Given the description of an element on the screen output the (x, y) to click on. 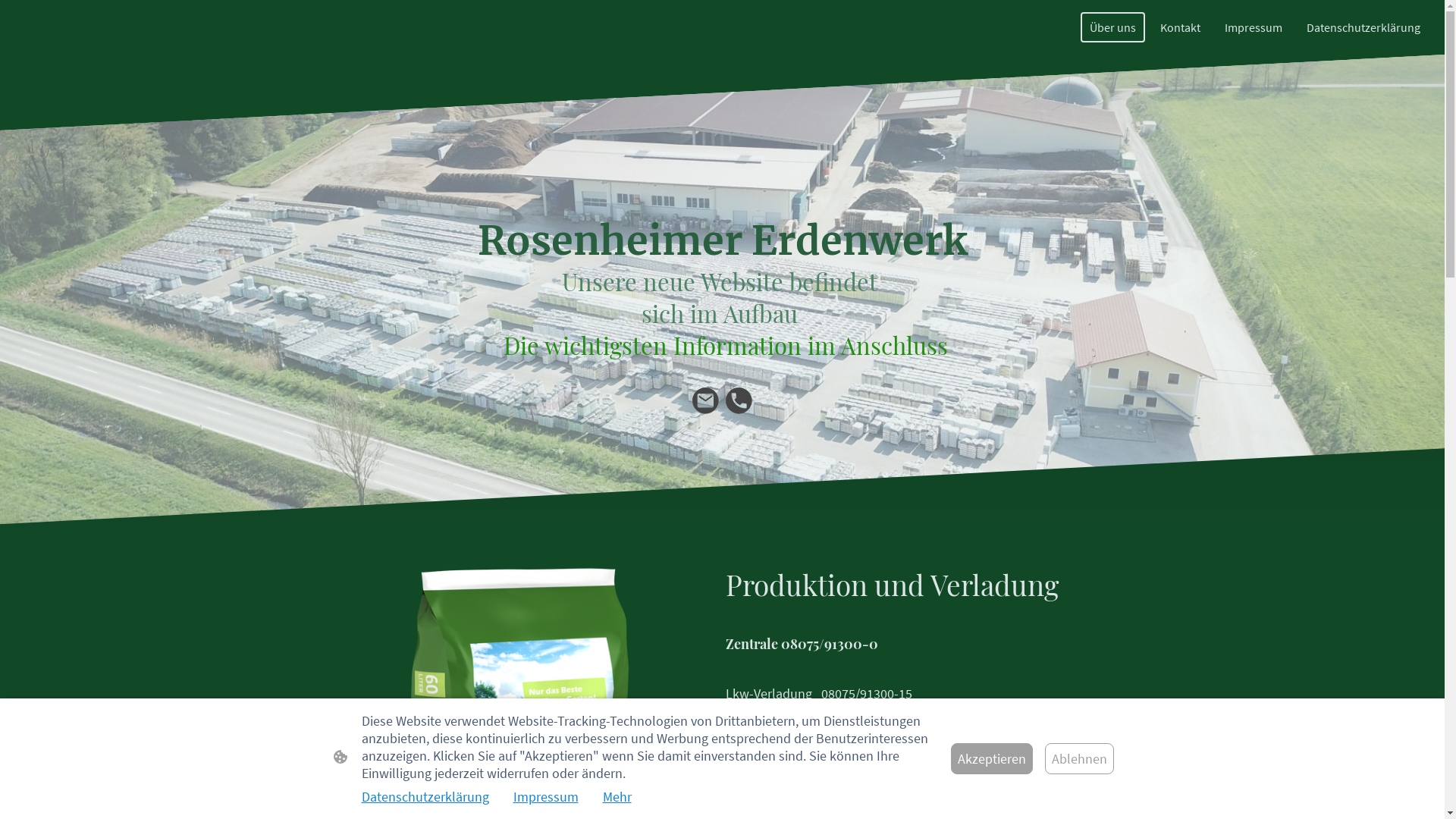
Akzeptieren Element type: text (991, 758)
Mehr Element type: text (616, 796)
Impressum Element type: text (544, 796)
Kontakt Element type: text (1180, 26)
Ablehnen Element type: text (1078, 758)
Impressum Element type: text (1253, 26)
